Given the description of an element on the screen output the (x, y) to click on. 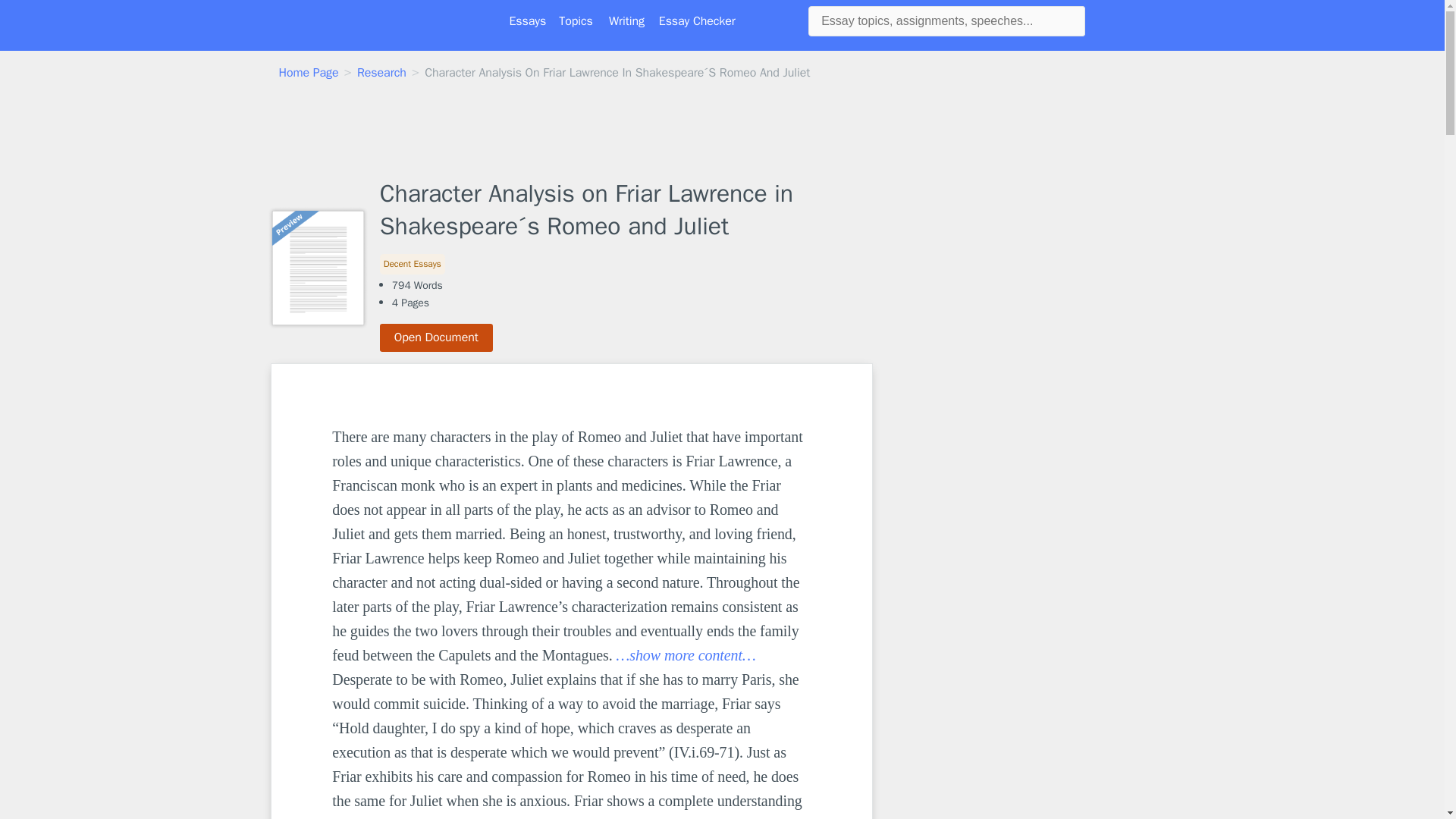
Topics (575, 20)
Essays (528, 20)
Essay Checker (697, 20)
Home Page (309, 72)
Research (381, 72)
Open Document (436, 337)
Writing (626, 20)
